Given the description of an element on the screen output the (x, y) to click on. 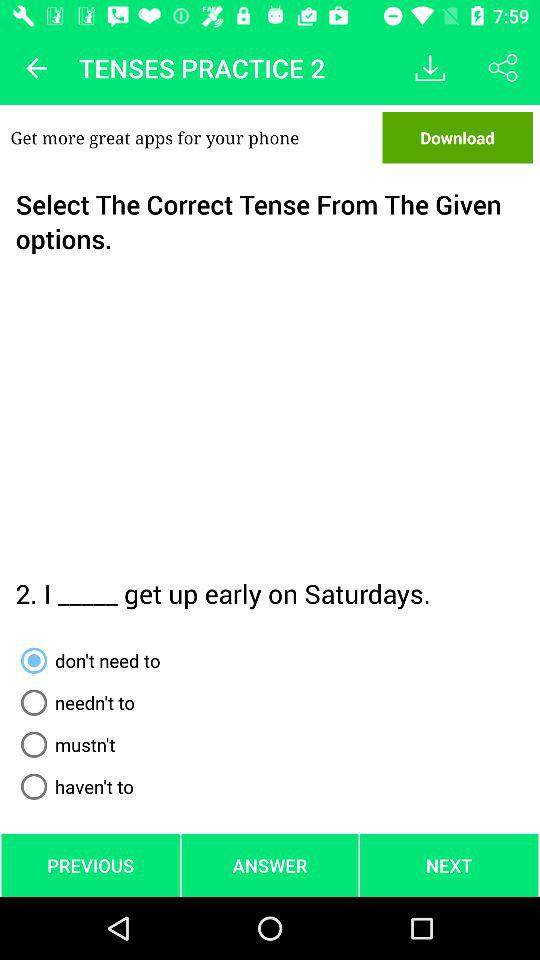
go to previous (36, 68)
